Given the description of an element on the screen output the (x, y) to click on. 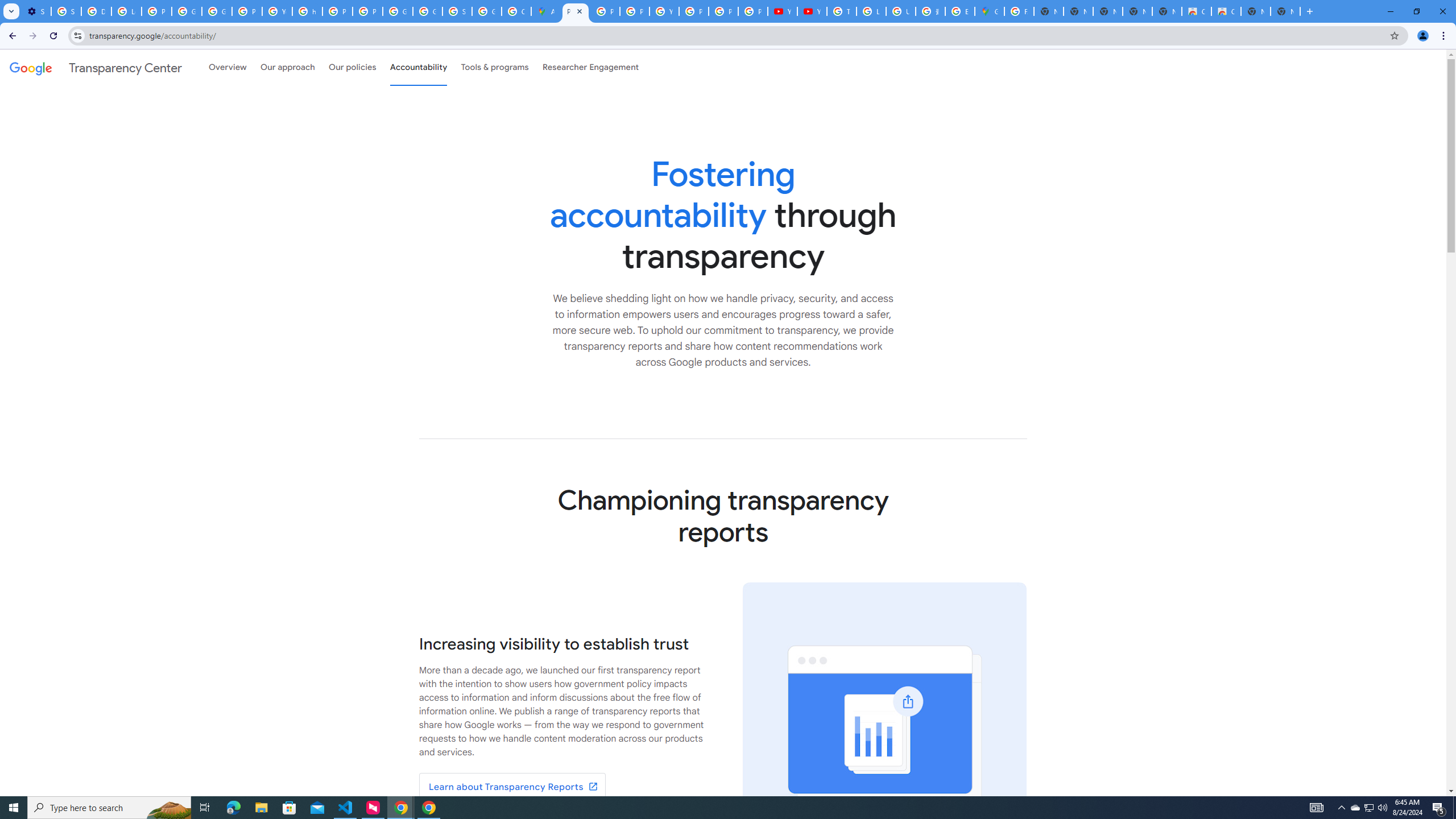
Go to Transparency Report About web page (512, 786)
Google Account Help (185, 11)
Transparency Center (95, 67)
Researcher Engagement (590, 67)
Tools & programs (494, 67)
Classic Blue - Chrome Web Store (1196, 11)
